Given the description of an element on the screen output the (x, y) to click on. 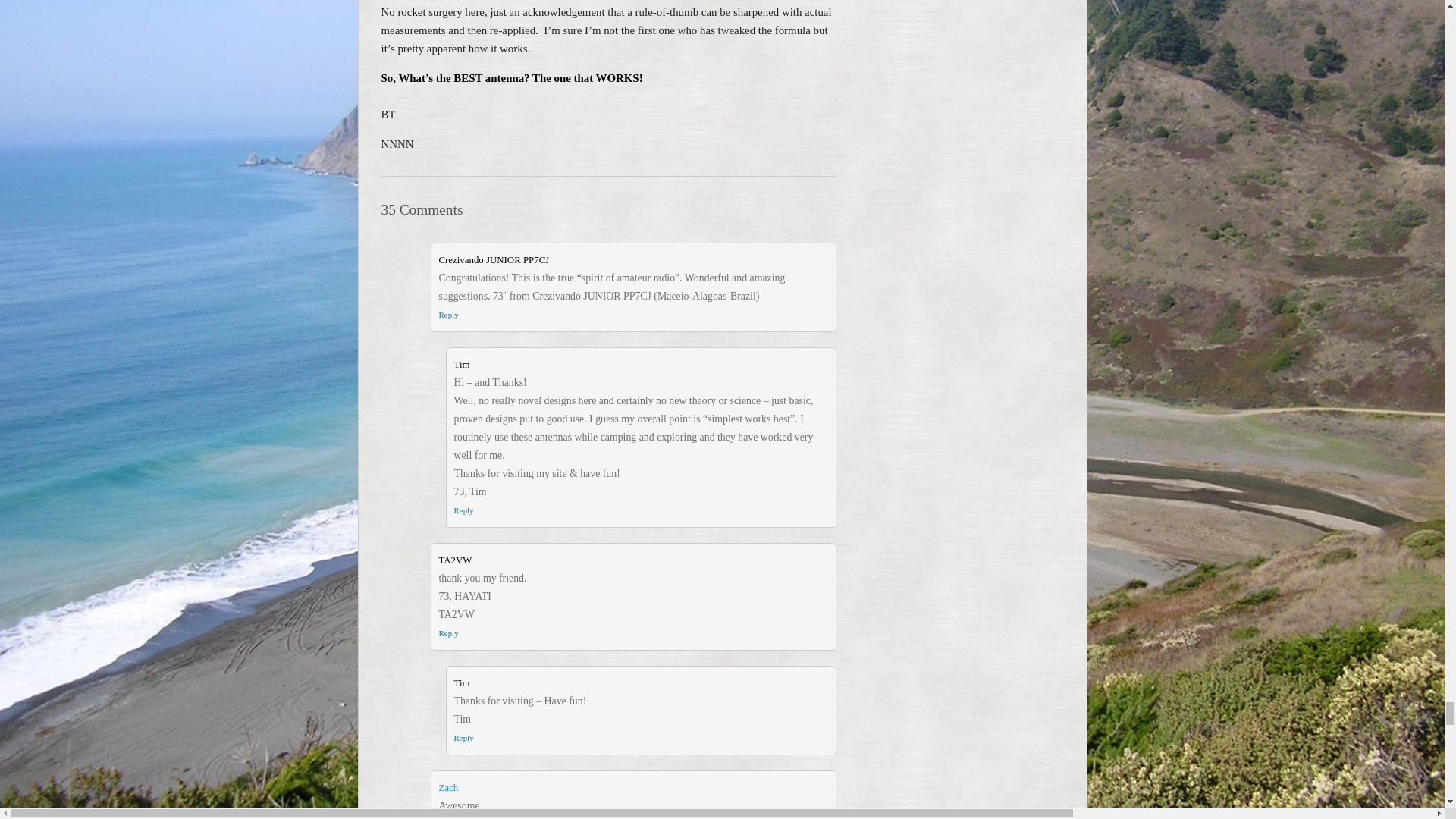
Zach (448, 787)
Reply (448, 314)
Reply (462, 510)
Reply (448, 633)
Reply (462, 737)
